Given the description of an element on the screen output the (x, y) to click on. 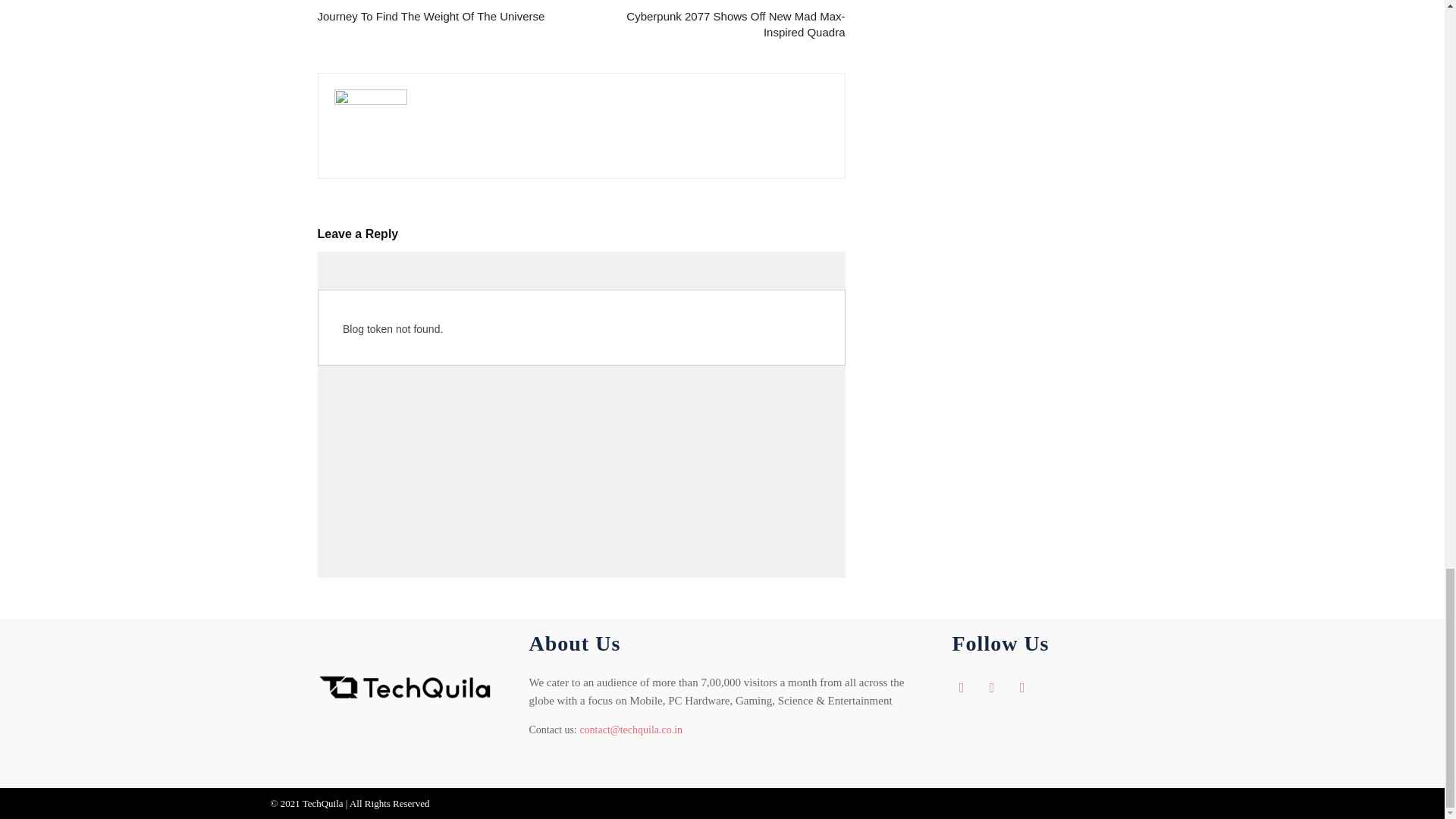
Journey To Find The Weight Of The Universe (430, 16)
Cyberpunk 2077 Shows Off New Mad Max-Inspired Quadra (721, 24)
